Given the description of an element on the screen output the (x, y) to click on. 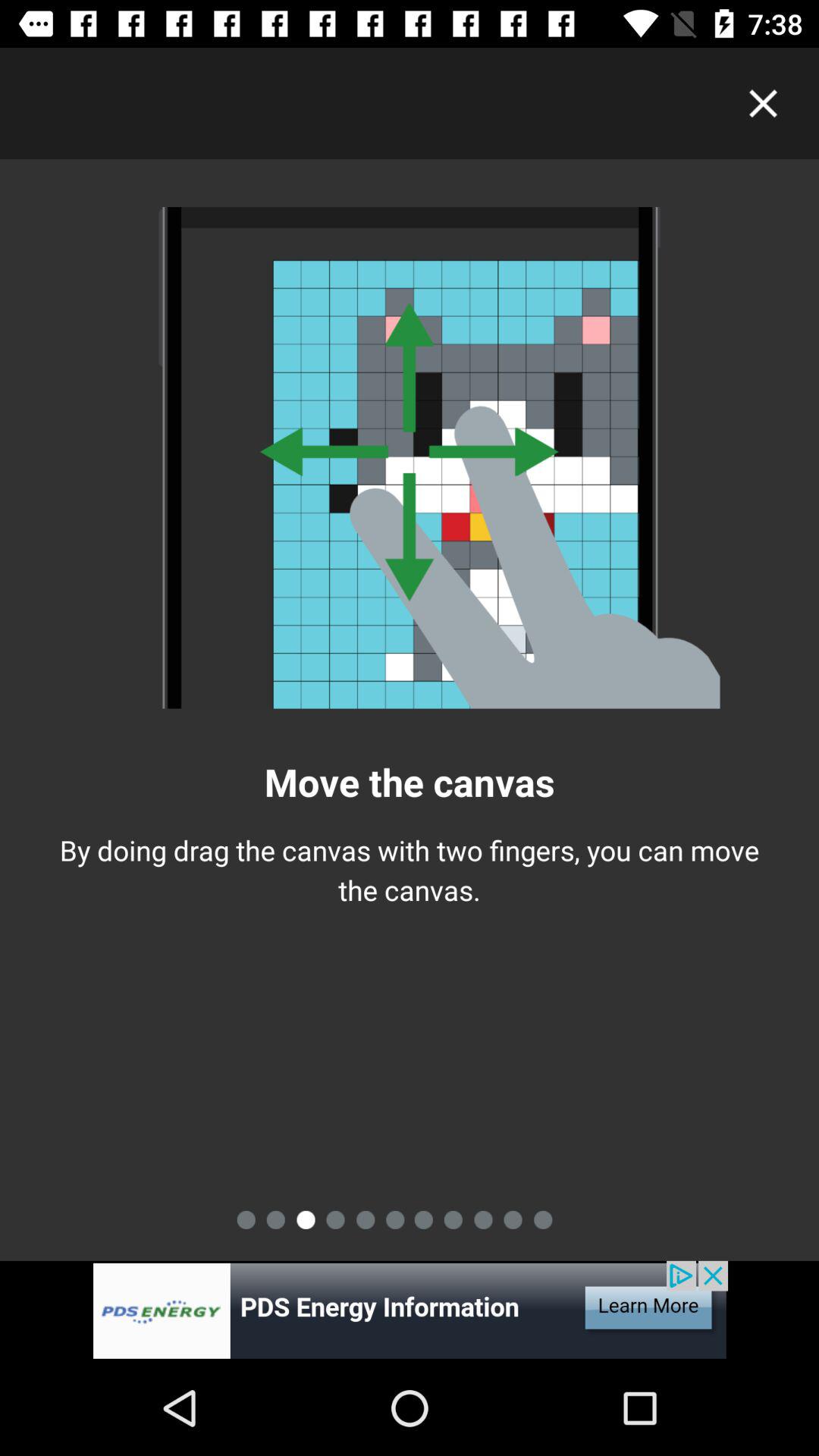
for add (409, 1310)
